Given the description of an element on the screen output the (x, y) to click on. 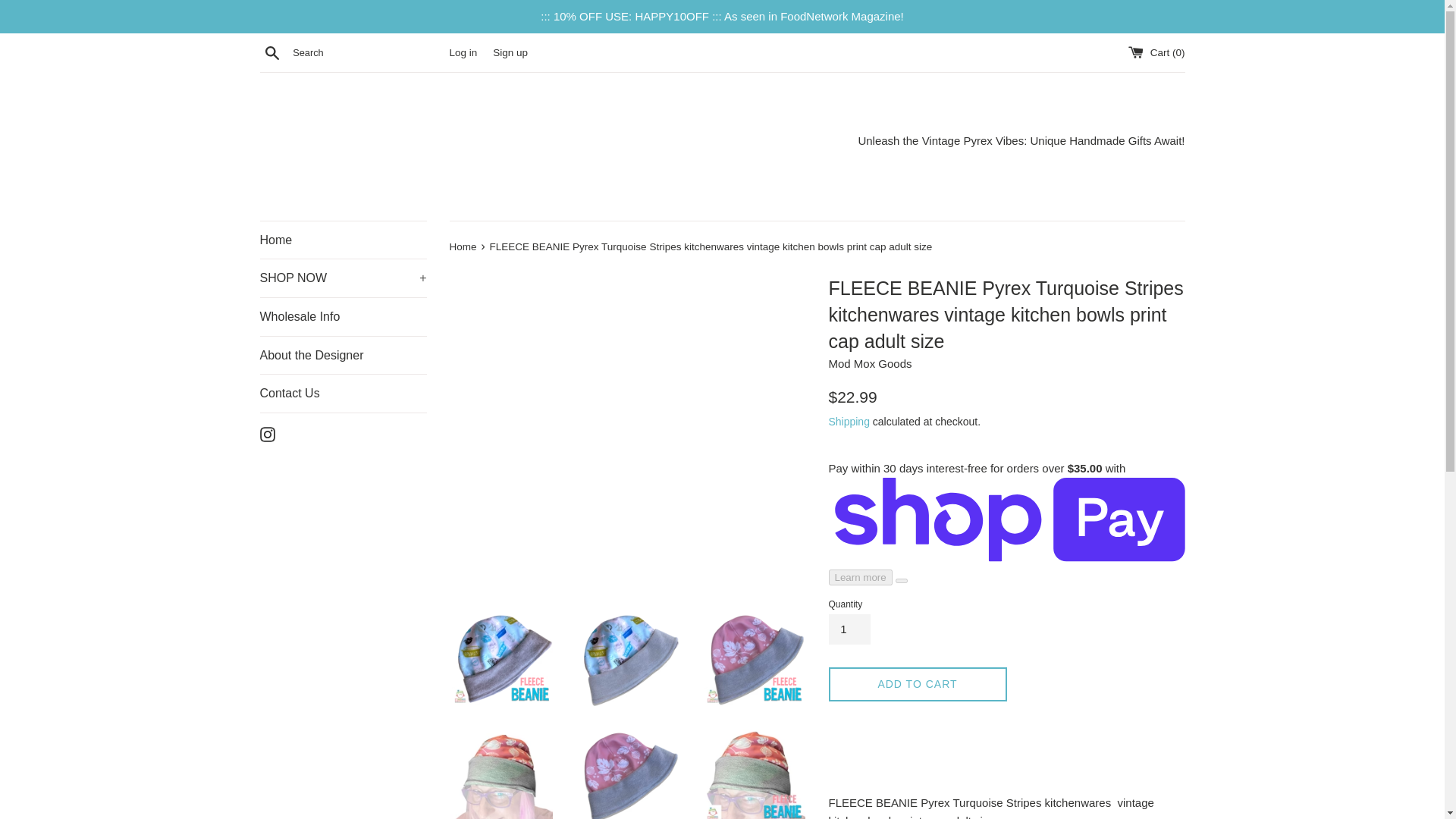
Wholesale Info (342, 316)
Home (342, 240)
About the Designer (342, 355)
Contact Us (342, 393)
Mod Mox Goods on Instagram (267, 432)
1 (848, 629)
ADD TO CART (917, 684)
Sign up (510, 52)
Home (463, 246)
Instagram (267, 432)
Search (271, 52)
Shipping (848, 421)
Back to the frontpage (463, 246)
Log in (462, 52)
